Given the description of an element on the screen output the (x, y) to click on. 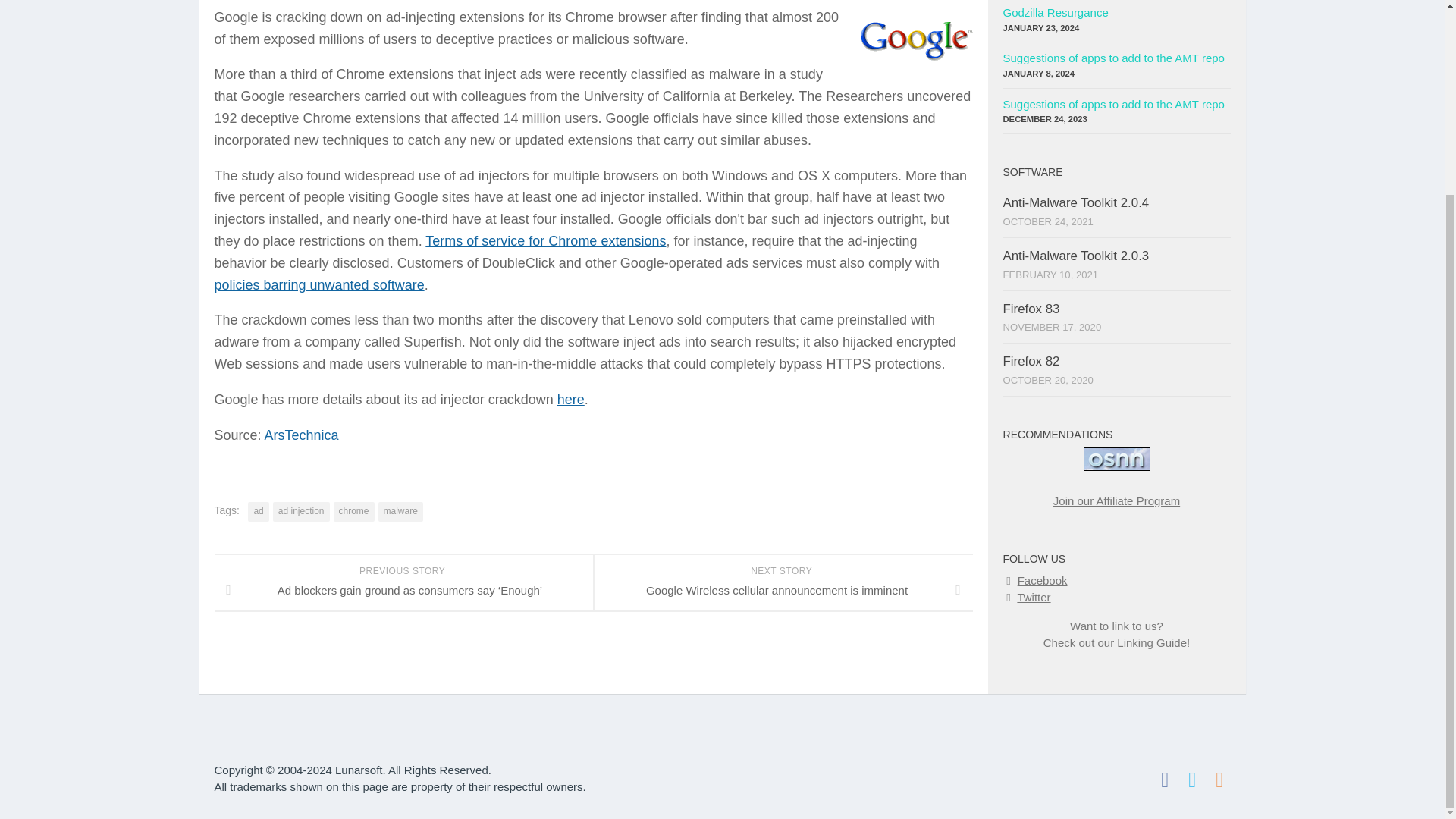
Follow us on Facebook-square (1164, 780)
policies barring unwanted software (318, 284)
malware (400, 511)
Terms of service for Chrome extensions (545, 240)
chrome (353, 511)
Follow our RSS feed (1219, 780)
ad injection (301, 511)
ArsTechnica (301, 435)
ad (257, 511)
here (571, 399)
OSNN - Windows, Linux and Macintosh News (1116, 458)
Follow us on Twitter-square (1191, 780)
